Given the description of an element on the screen output the (x, y) to click on. 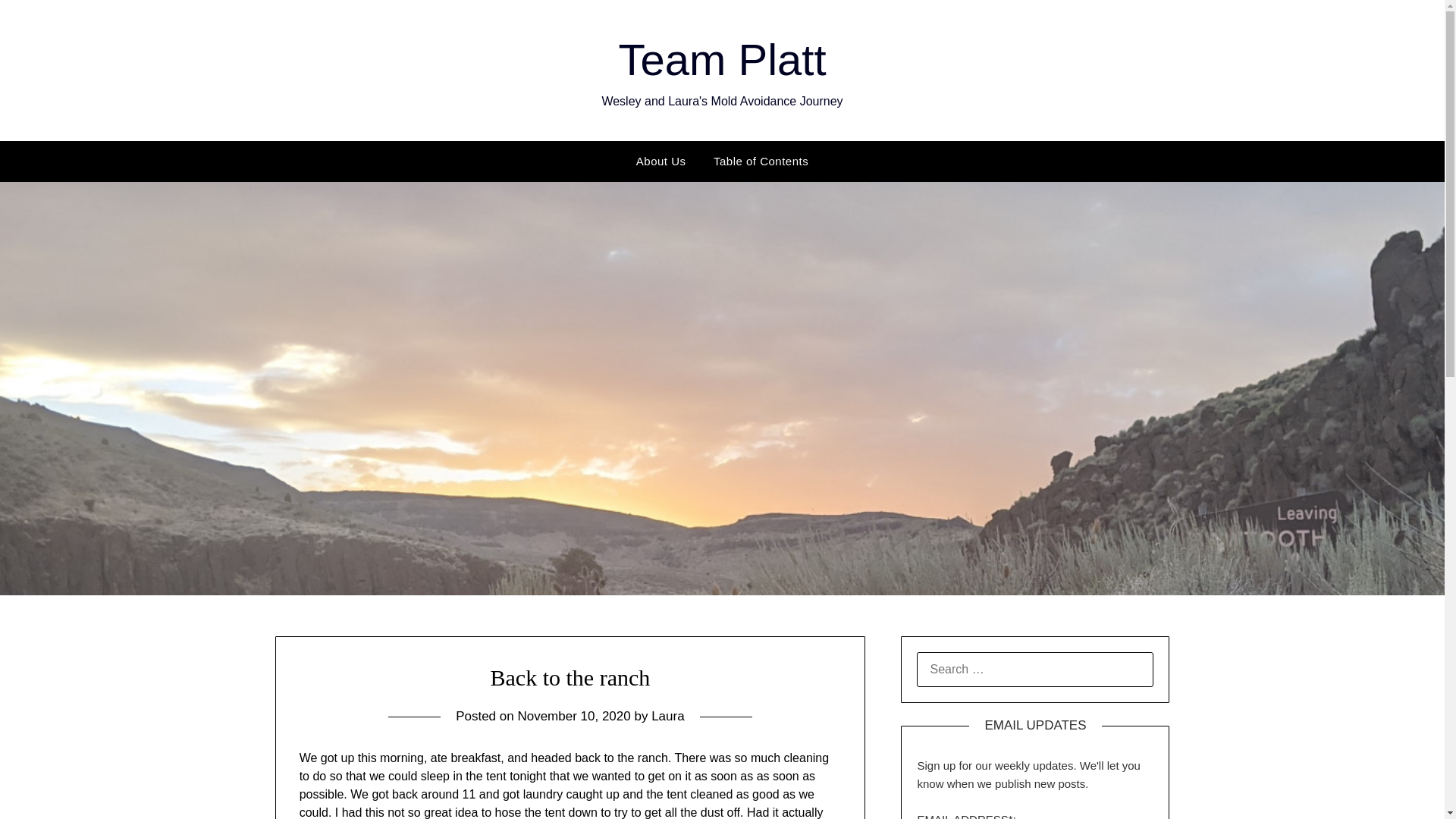
Team Platt (722, 59)
Laura (667, 716)
November 10, 2020 (573, 716)
Table of Contents (761, 160)
About Us (661, 160)
Search (38, 22)
